Given the description of an element on the screen output the (x, y) to click on. 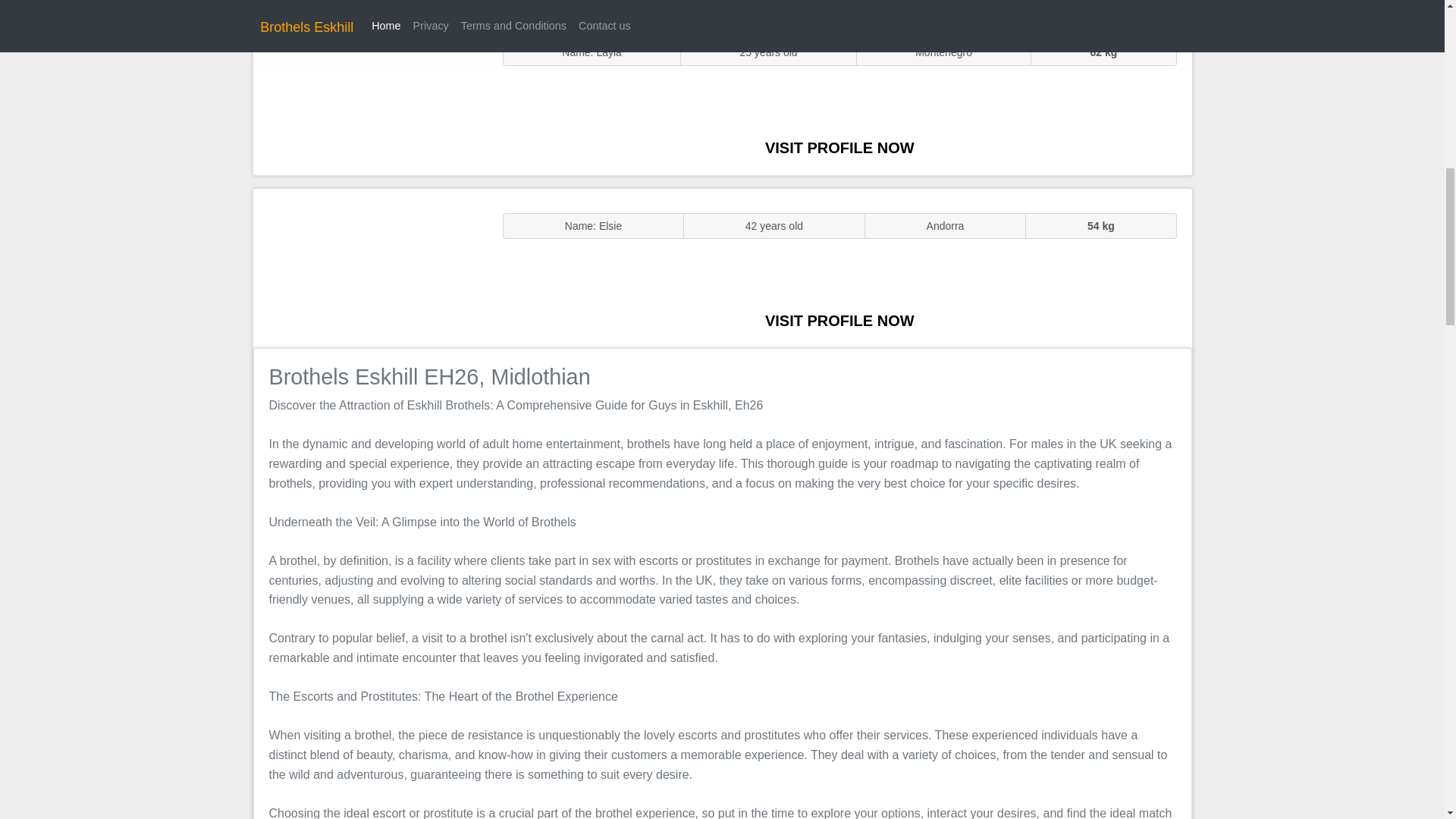
VISIT PROFILE NOW (839, 320)
Massage (370, 267)
Sluts (370, 94)
VISIT PROFILE NOW (839, 147)
